Given the description of an element on the screen output the (x, y) to click on. 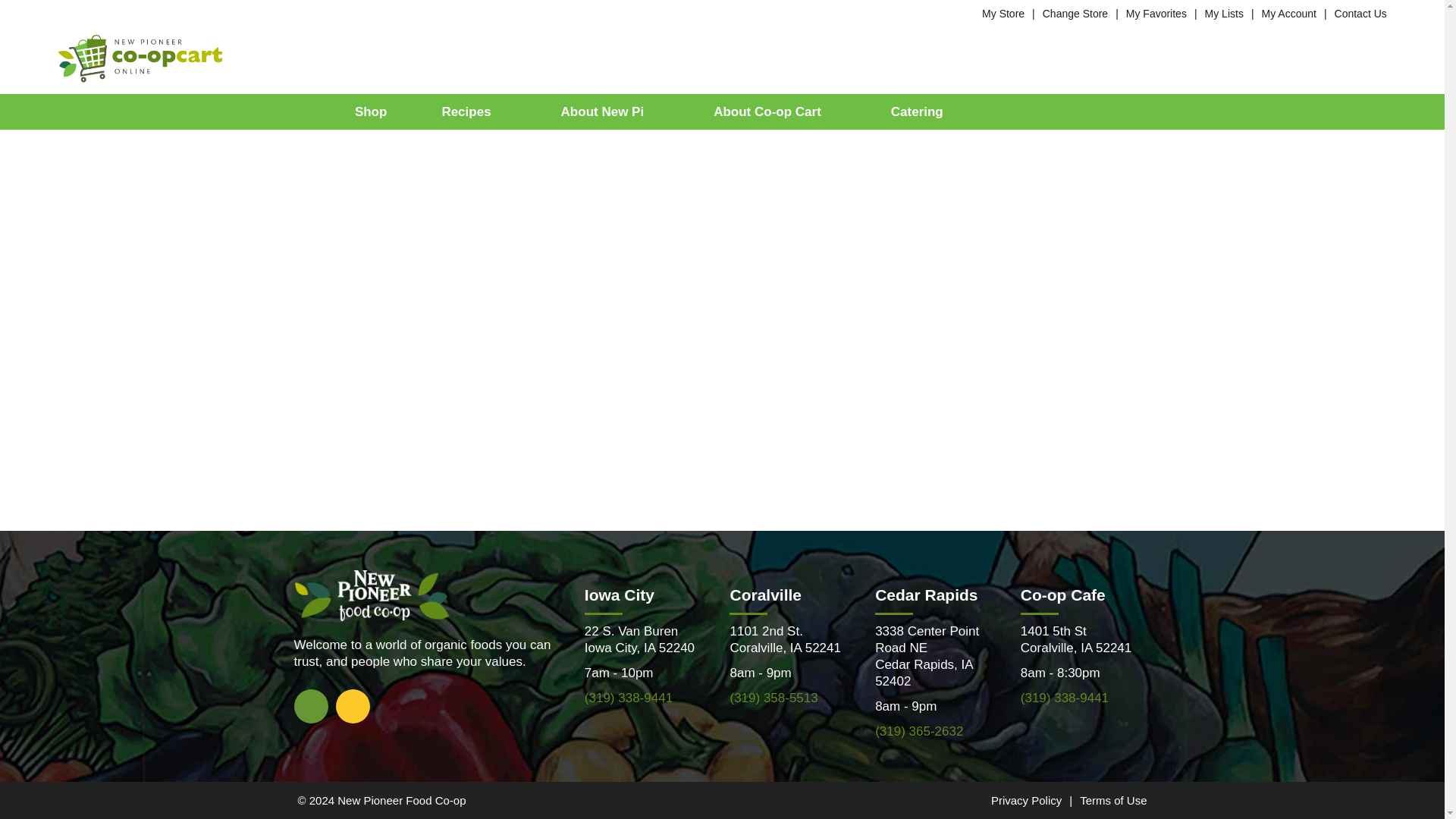
My Store (1003, 13)
About New Pi (610, 111)
Change Store (1075, 13)
Shop (370, 111)
My Lists (1224, 13)
facebook (311, 705)
Contact Us (1361, 13)
Catering (917, 111)
My Account (1289, 13)
Terms of Use (1113, 799)
